Given the description of an element on the screen output the (x, y) to click on. 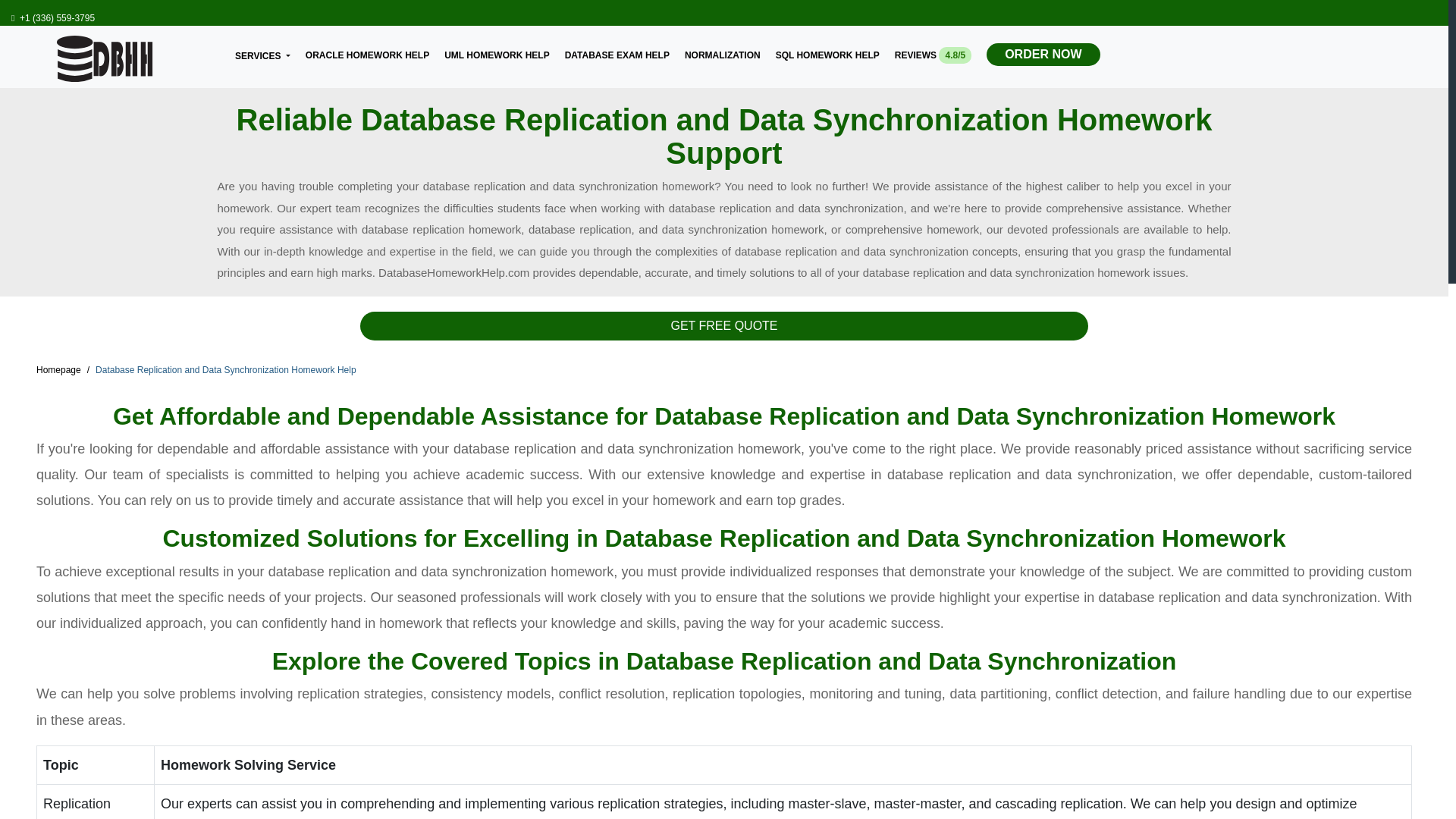
NORMALIZATION (722, 51)
ORACLE HOMEWORK HELP (367, 51)
DATABASE EXAM HELP (616, 51)
SERVICES (261, 55)
UML HOMEWORK HELP (496, 51)
